Given the description of an element on the screen output the (x, y) to click on. 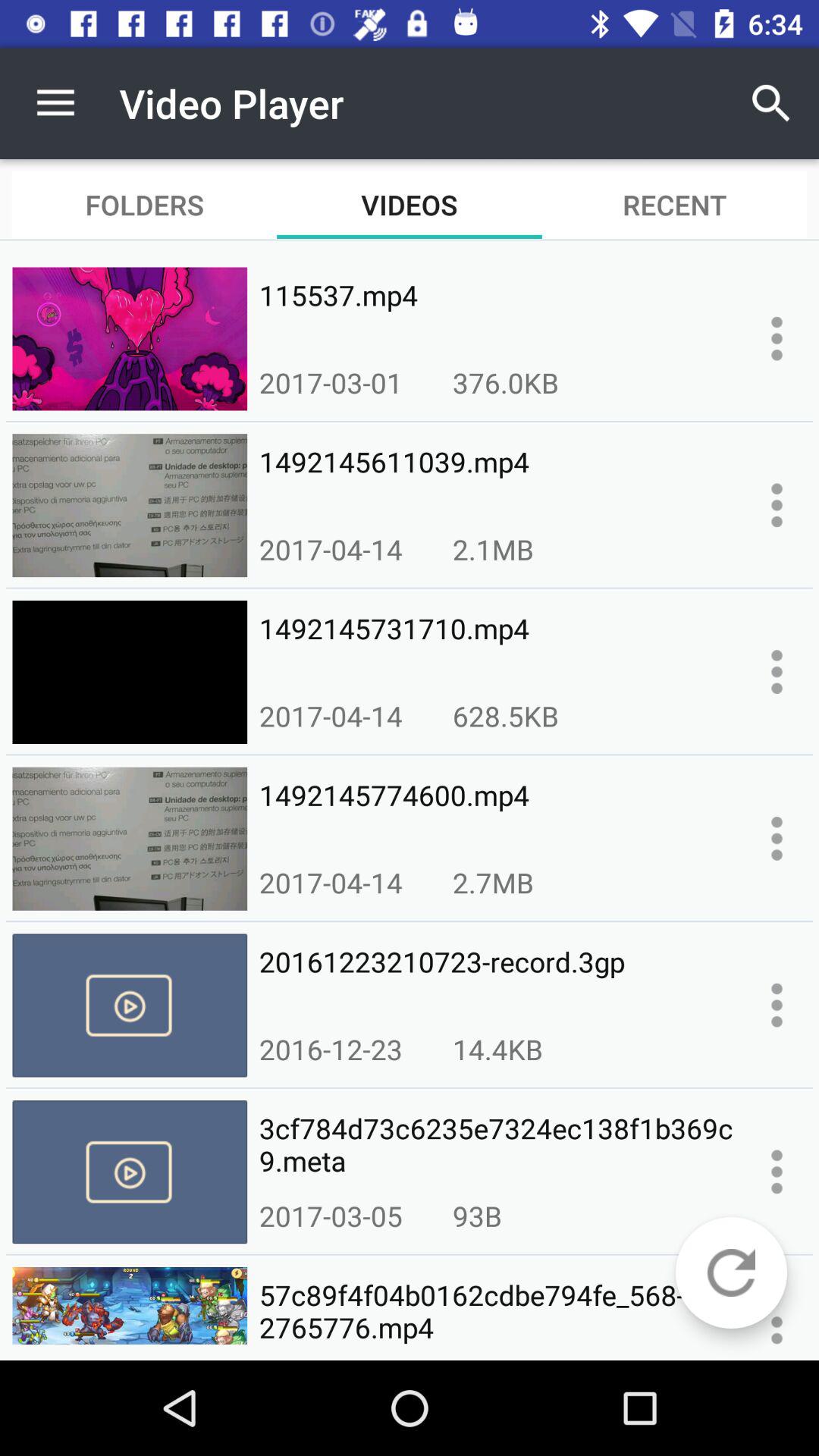
open the item next to the video player item (55, 103)
